Given the description of an element on the screen output the (x, y) to click on. 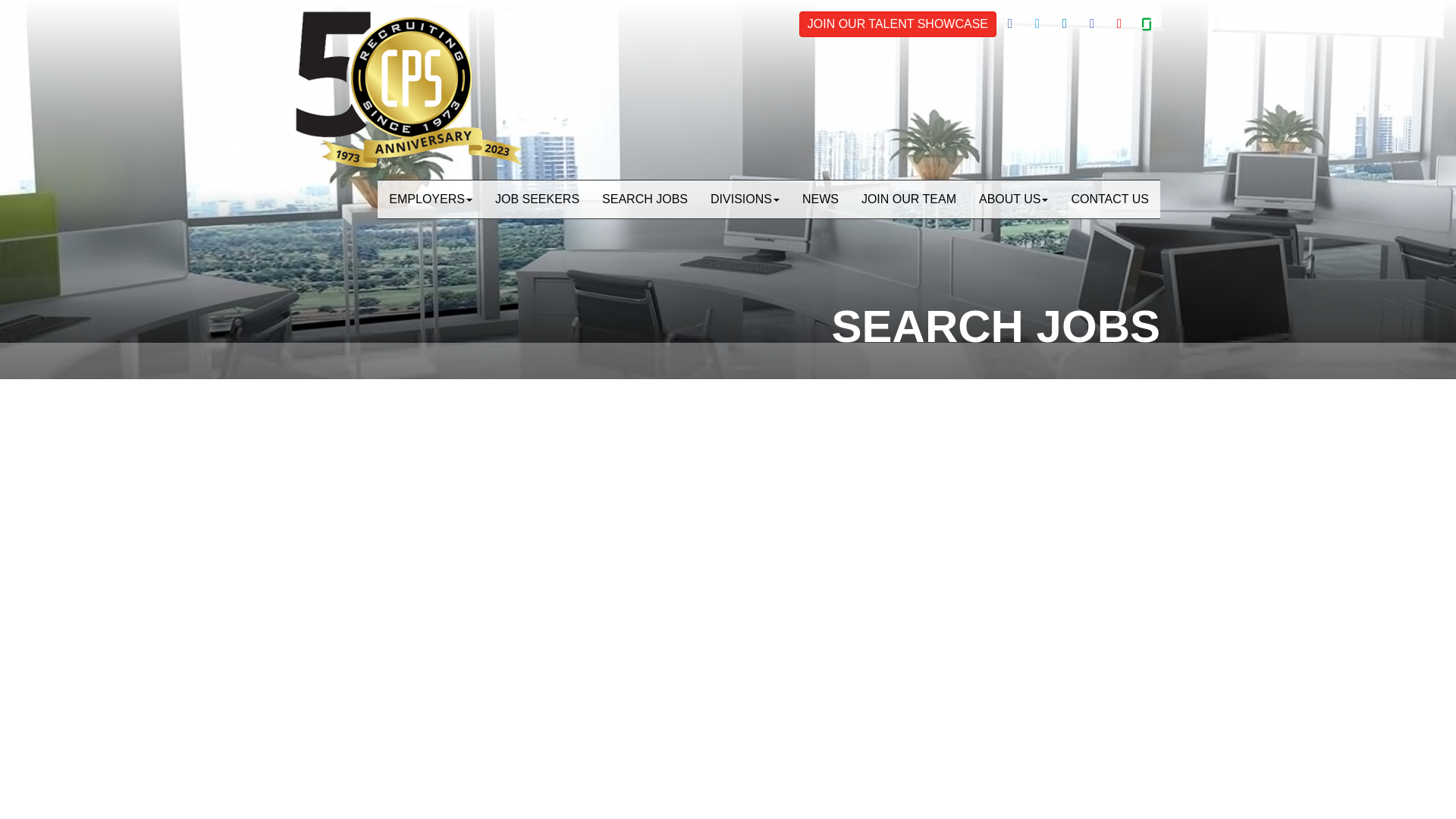
DIVISIONS (745, 199)
Follow us on Twitter (1037, 23)
Follow us on Twitter (1037, 23)
EMPLOYERS (430, 199)
ABOUT US (1014, 199)
Watch us on YouTube (1118, 23)
CONTACT US (1109, 199)
CPS, Inc. (408, 89)
Like us on Facebook (1009, 23)
Instagram (1091, 23)
Visit our page on Glassdoor (1146, 23)
JOIN OUR TALENT SHOWCASE (897, 23)
Watch us on YouTube (1118, 23)
NEWS (819, 199)
Connect with us on LinkedIn (1064, 23)
